Given the description of an element on the screen output the (x, y) to click on. 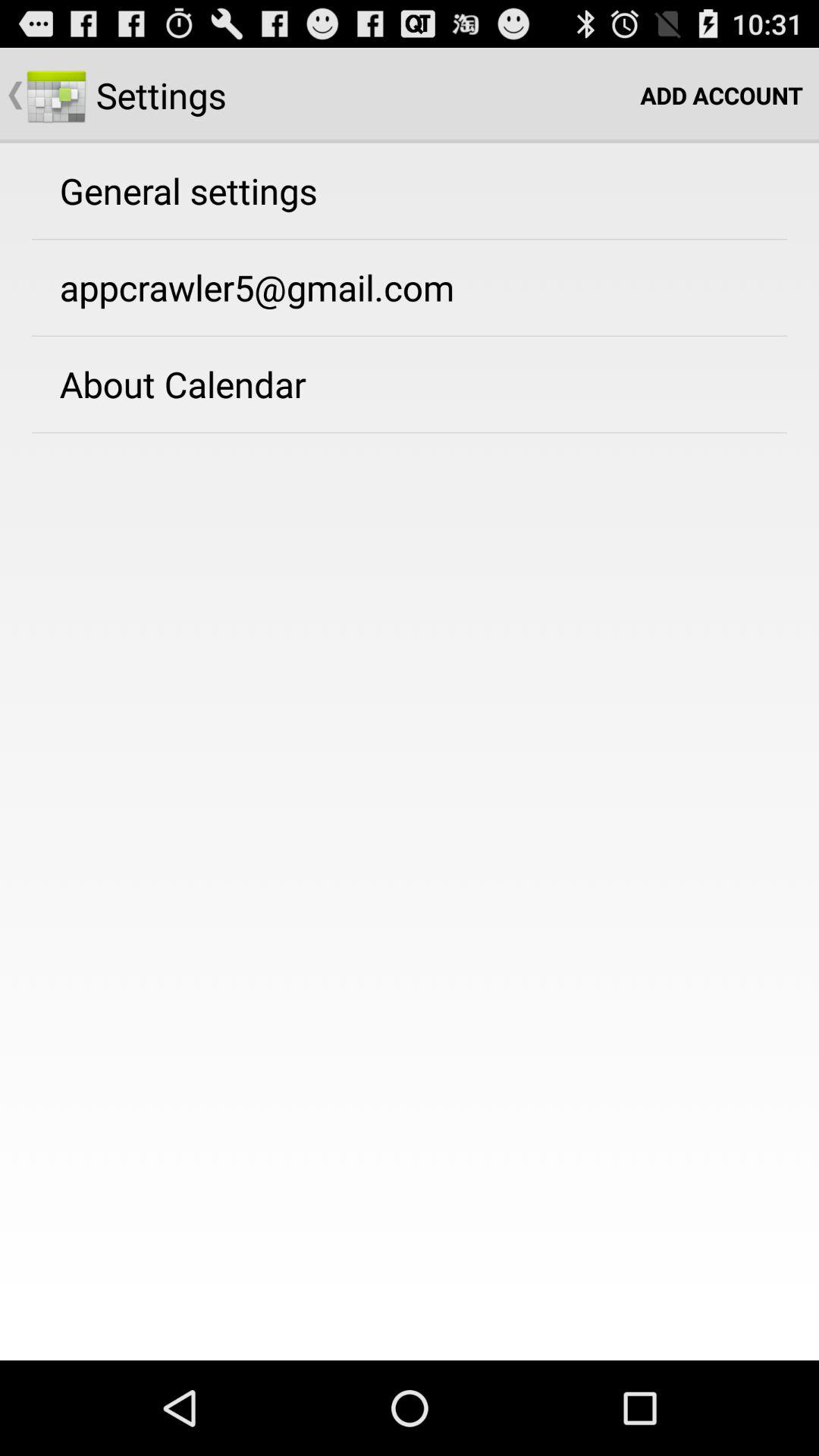
tap general settings icon (188, 190)
